Given the description of an element on the screen output the (x, y) to click on. 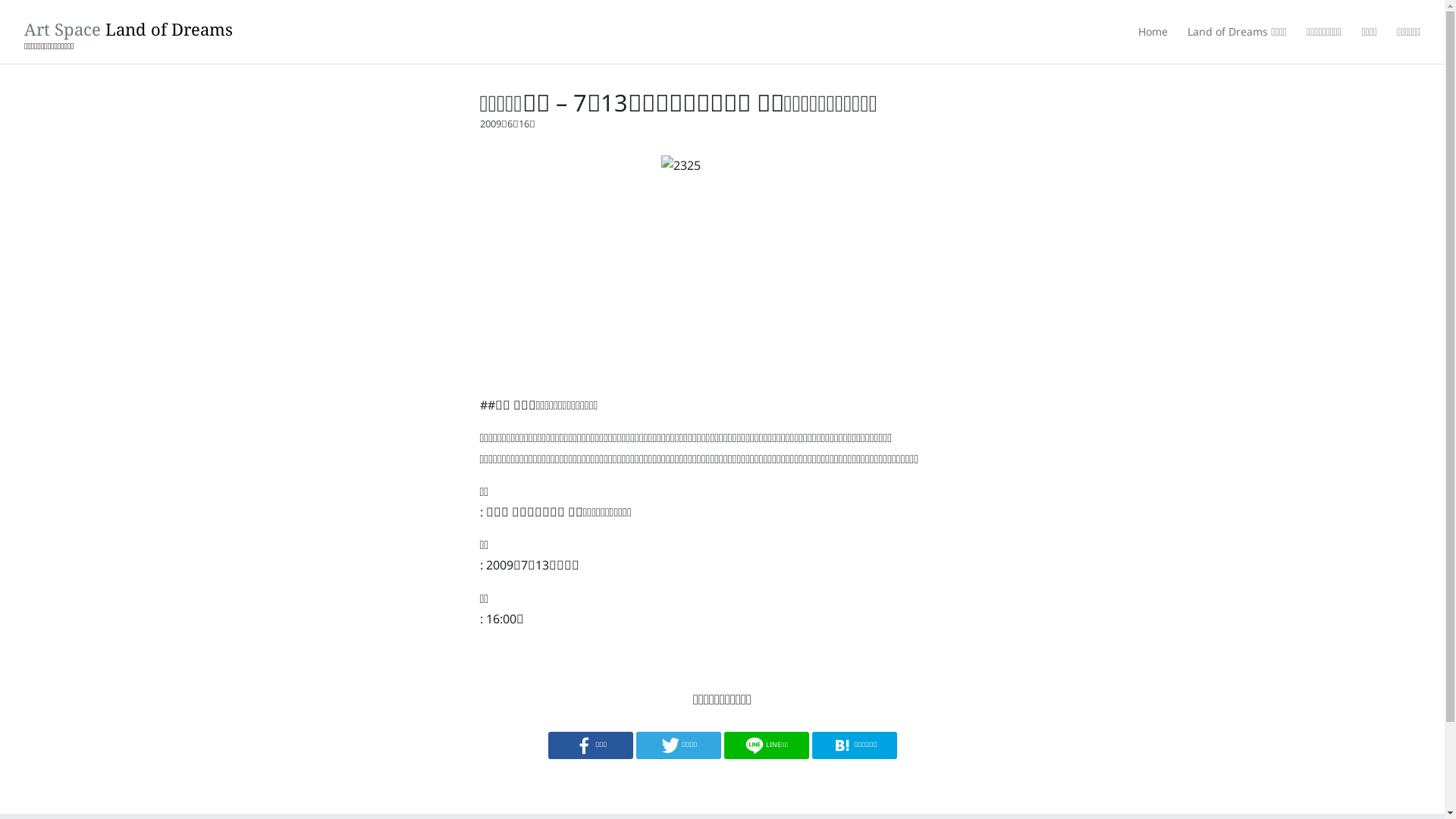
Home Element type: text (1152, 31)
2325 Element type: hover (722, 268)
